Given the description of an element on the screen output the (x, y) to click on. 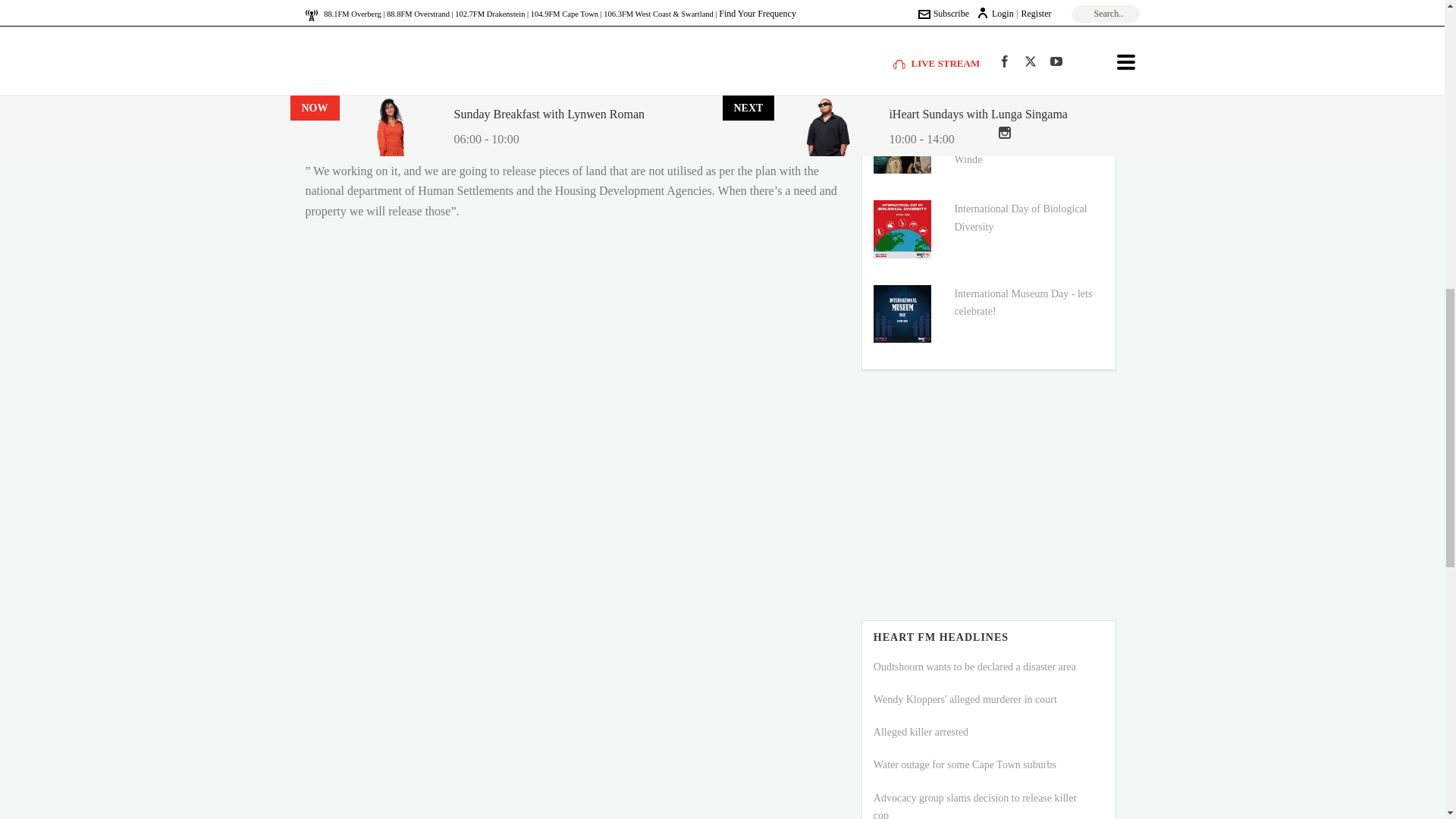
Oudtshoorn wants to be declared a disaster area (974, 666)
International Museum Day - lets celebrate! (1022, 302)
Wendy Kloppers' alleged murderer in court (965, 699)
International Day Of Biological Diversity (902, 228)
Advocacy group slams decision to release killer cop (975, 805)
Alleged killer arrested (920, 731)
Water outage for some Cape Town suburbs (965, 764)
tempimagepvzsmt (902, 145)
